Given the description of an element on the screen output the (x, y) to click on. 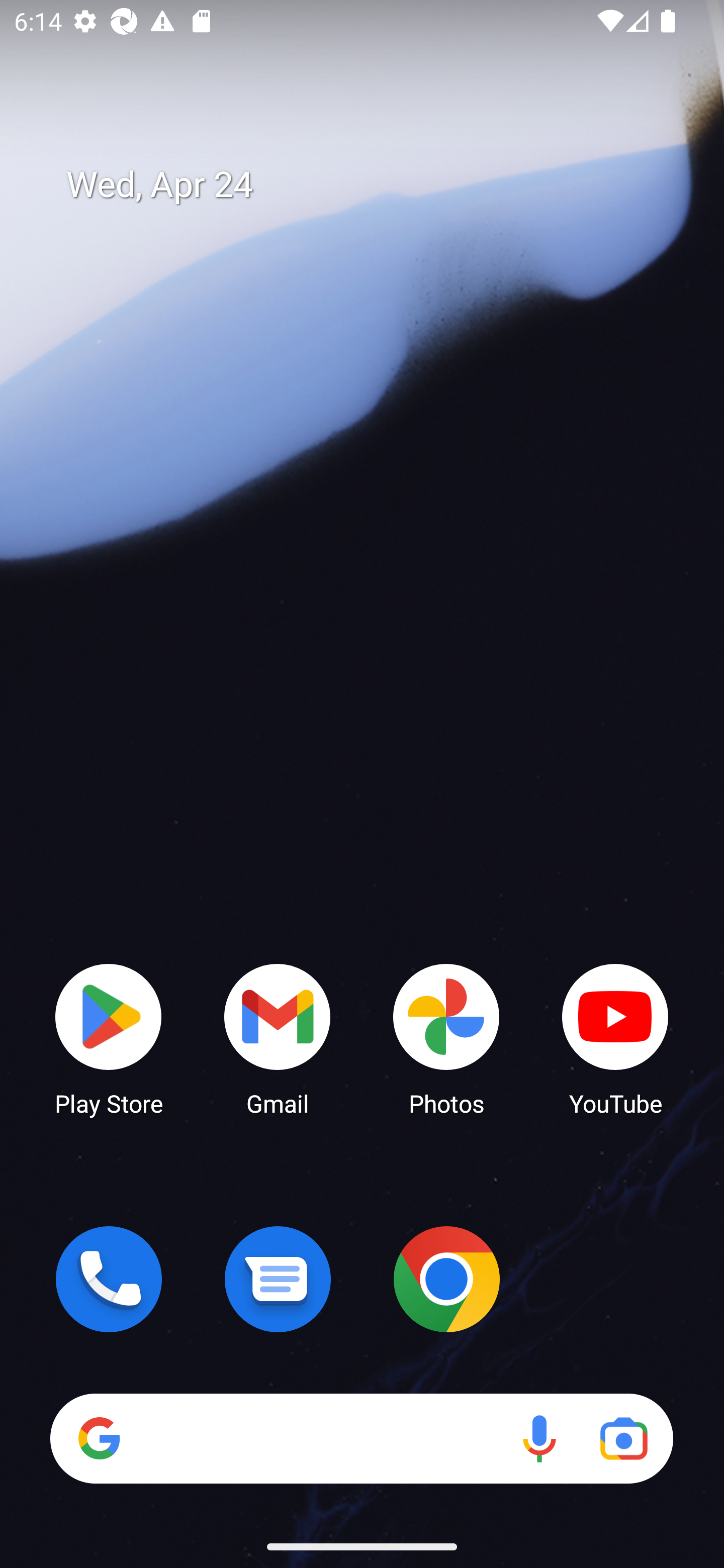
Wed, Apr 24 (375, 184)
Play Store (108, 1038)
Gmail (277, 1038)
Photos (445, 1038)
YouTube (615, 1038)
Phone (108, 1279)
Messages (277, 1279)
Chrome (446, 1279)
Search Voice search Google Lens (361, 1438)
Voice search (539, 1438)
Google Lens (623, 1438)
